Given the description of an element on the screen output the (x, y) to click on. 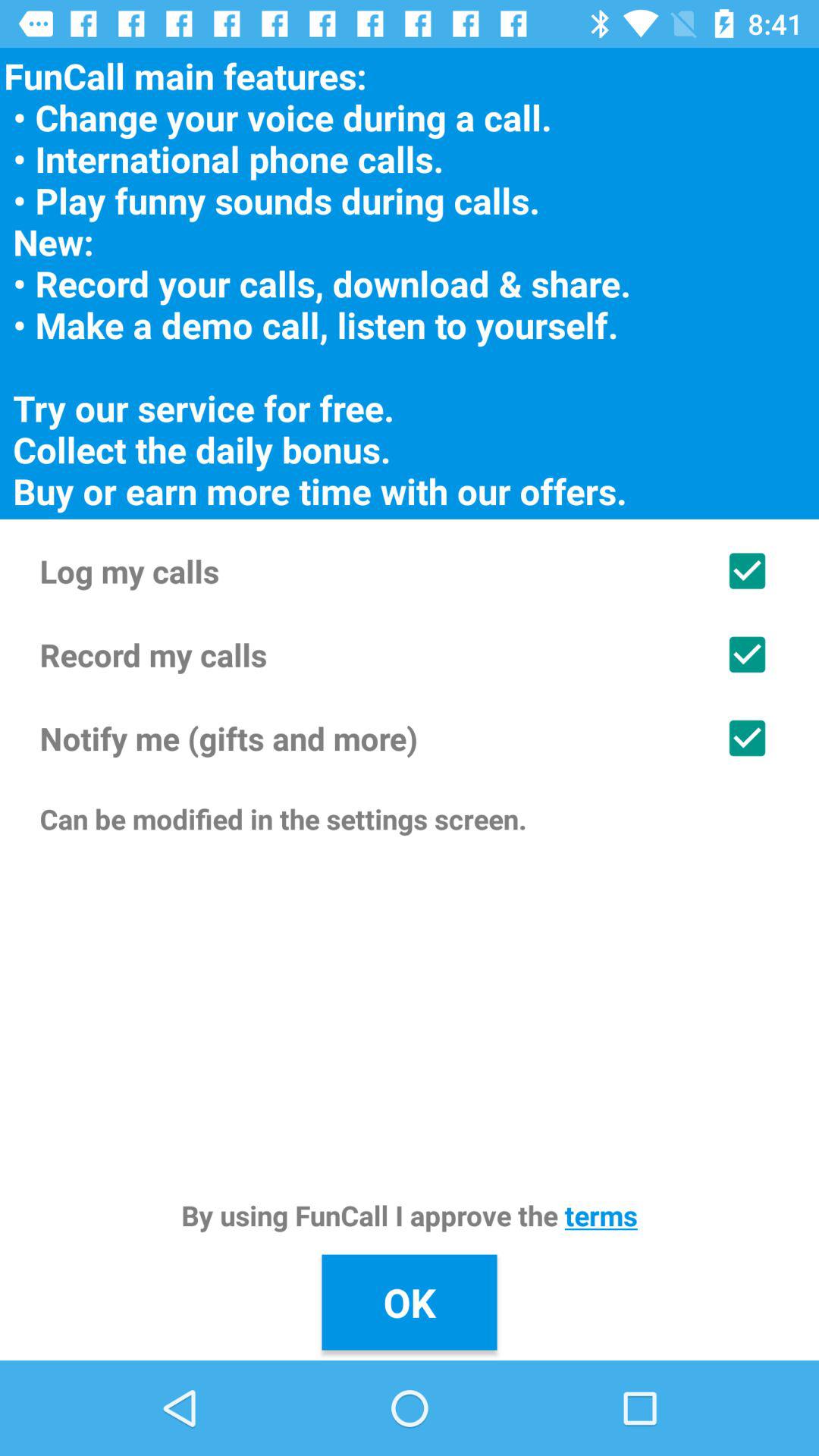
launch notify me gifts (409, 738)
